Given the description of an element on the screen output the (x, y) to click on. 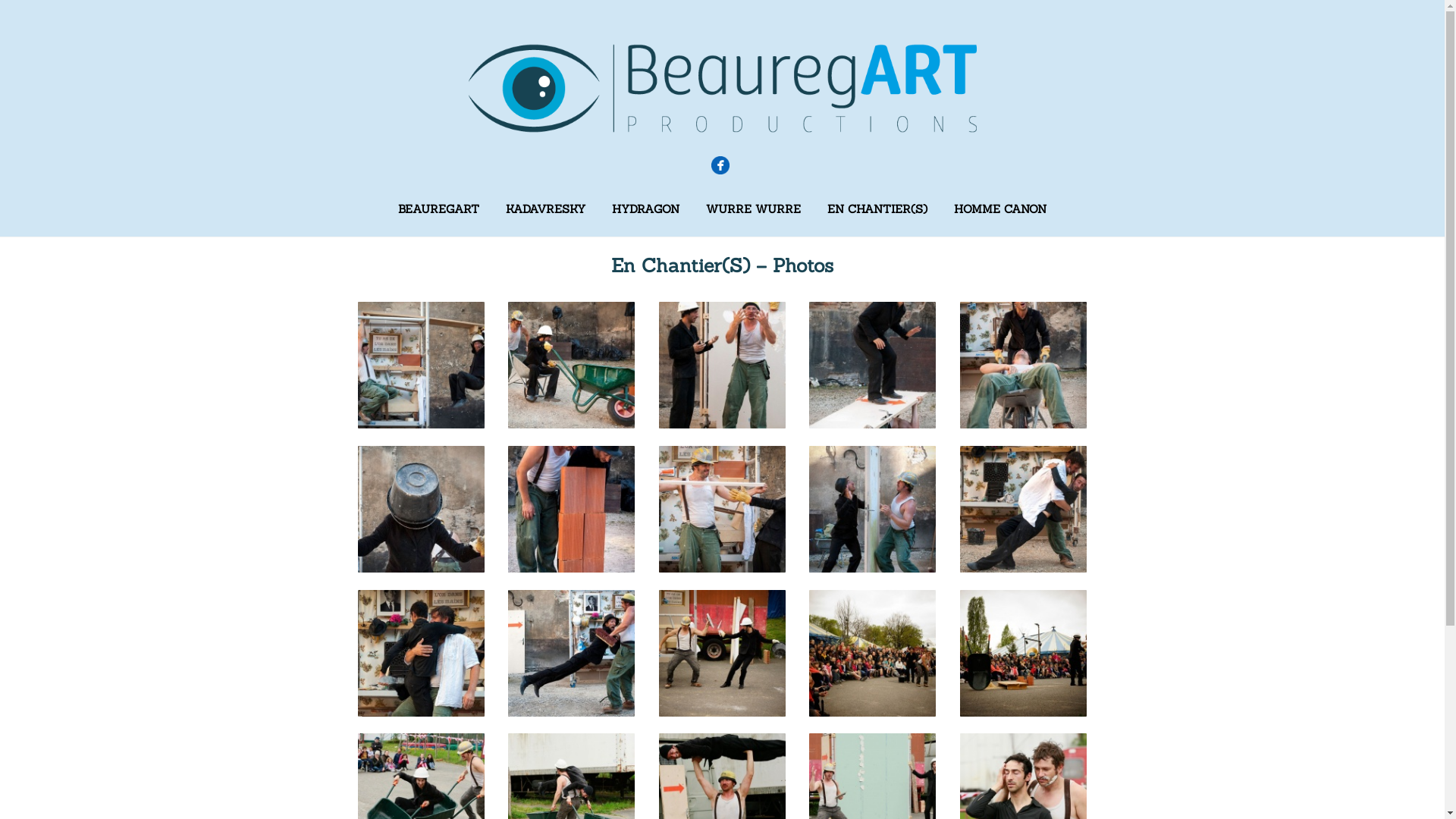
photo_en_chantiers_006 Element type: hover (420, 506)
photo_en_chantiers_014 Element type: hover (872, 650)
photo_en_chantiers_001 Element type: hover (420, 363)
BEAUREGART Element type: text (438, 209)
photo_en_chantiers_009 Element type: hover (872, 506)
photo_en_chantiers_020 Element type: hover (1023, 795)
photo_en_chantiers_003 Element type: hover (721, 363)
KADAVRESKY Element type: text (545, 209)
BeauregART Productions Element type: hover (721, 88)
EN CHANTIER(S) Element type: text (876, 209)
photo_en_chantiers_013 Element type: hover (721, 650)
photo_en_chantiers_002 Element type: hover (571, 363)
Facebook Element type: hover (720, 165)
photo_en_chantiers_018 Element type: hover (721, 795)
BeauregART Productions Element type: hover (721, 131)
HOMME CANON Element type: text (999, 209)
photo_en_chantiers_005 Element type: hover (1023, 363)
photo_en_chantiers_015 Element type: hover (1023, 650)
WURRE WURRE Element type: text (753, 209)
photo_en_chantiers_019 Element type: hover (872, 795)
photo_en_chantiers_010 Element type: hover (1023, 506)
photo_en_chantiers_012 Element type: hover (571, 650)
photo_en_chantiers_016 Element type: hover (420, 795)
photo_en_chantiers_004 Element type: hover (872, 363)
HYDRAGON Element type: text (645, 209)
photo_en_chantiers_007 Element type: hover (571, 506)
photo_en_chantiers_017 Element type: hover (571, 795)
photo_en_chantiers_011 Element type: hover (420, 650)
photo_en_chantiers_008 Element type: hover (721, 506)
